Given the description of an element on the screen output the (x, y) to click on. 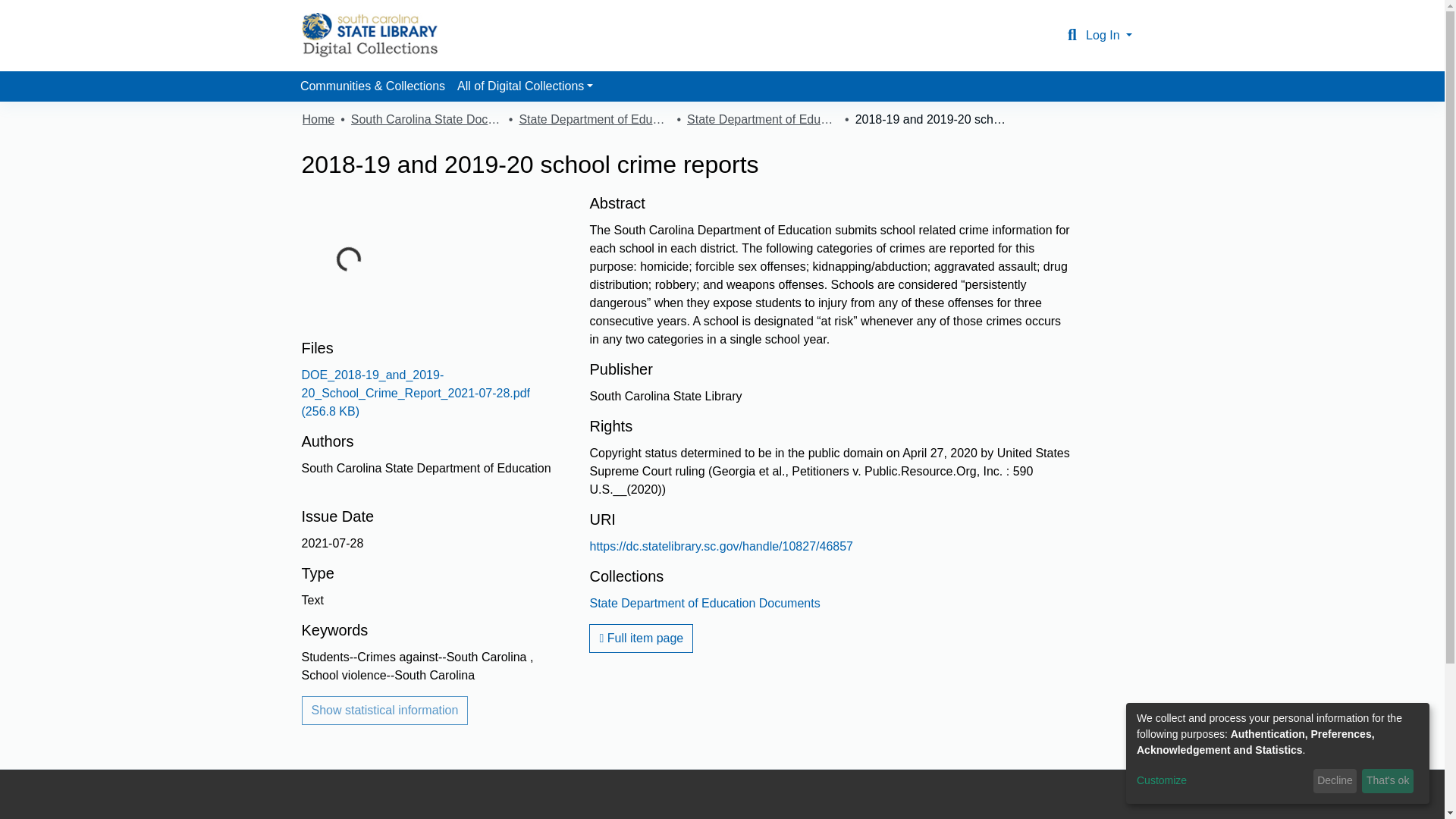
State Department of Education (593, 119)
Customize (1222, 780)
Home (317, 119)
Show statistical information (384, 710)
South Carolina State Documents Depository (426, 119)
Log In (1108, 34)
State Department of Education Documents (704, 603)
That's ok (1387, 781)
Full item page (641, 638)
Search (1072, 35)
Decline (1334, 781)
State Department of Education Documents (762, 119)
All of Digital Collections (524, 86)
